Given the description of an element on the screen output the (x, y) to click on. 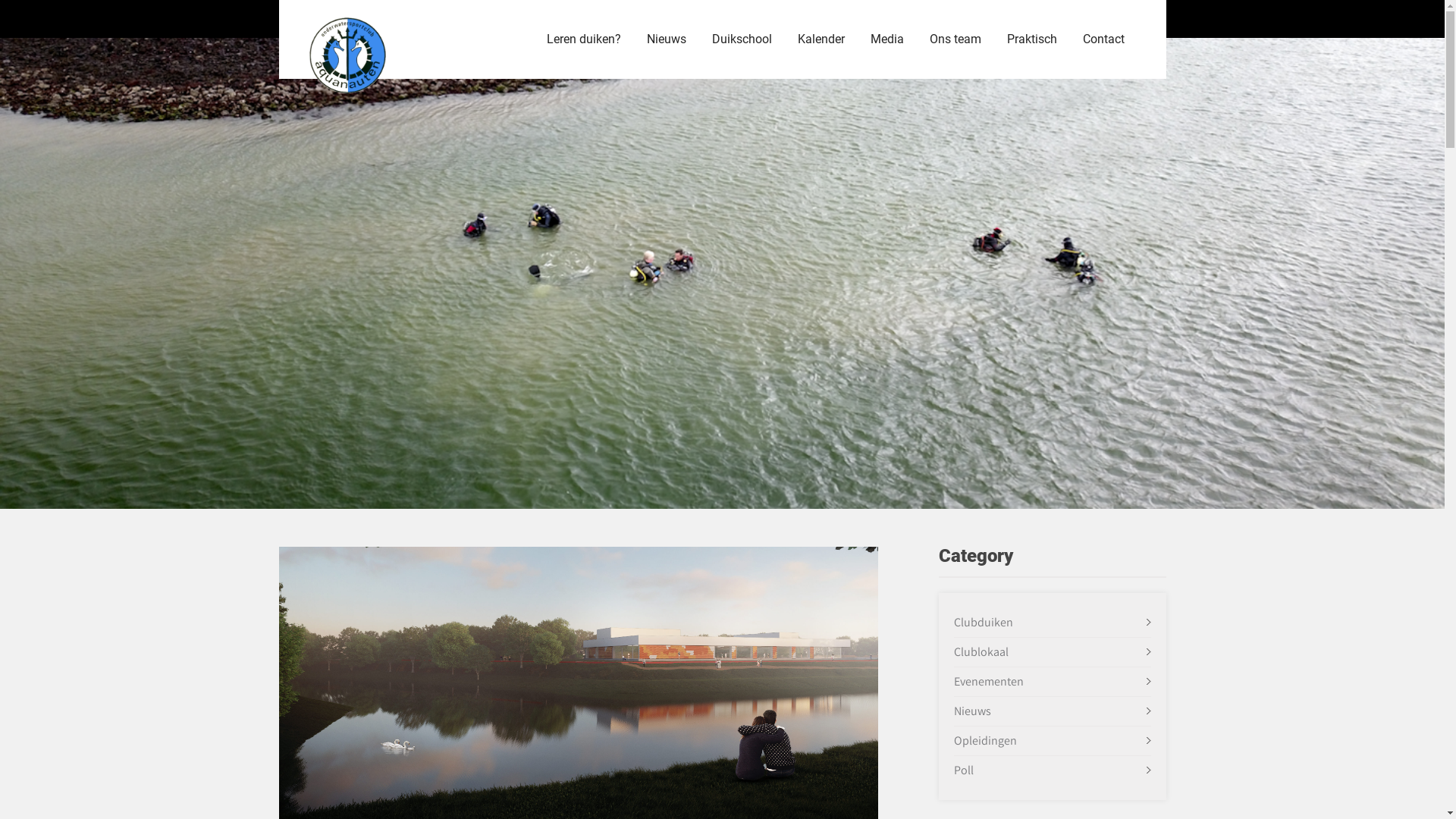
Opleidingen Element type: text (984, 740)
Praktisch Element type: text (1030, 39)
Evenementen Element type: text (988, 681)
Nieuws Element type: text (666, 39)
Leren duiken? Element type: text (583, 39)
Duikschool Element type: text (741, 39)
Contact Element type: text (1102, 39)
Clublokaal Element type: text (980, 651)
Clubduiken Element type: text (983, 622)
Ons team Element type: text (954, 39)
Nieuws Element type: text (972, 710)
Kalender Element type: text (820, 39)
Media Element type: text (886, 39)
Poll Element type: text (963, 770)
